Given the description of an element on the screen output the (x, y) to click on. 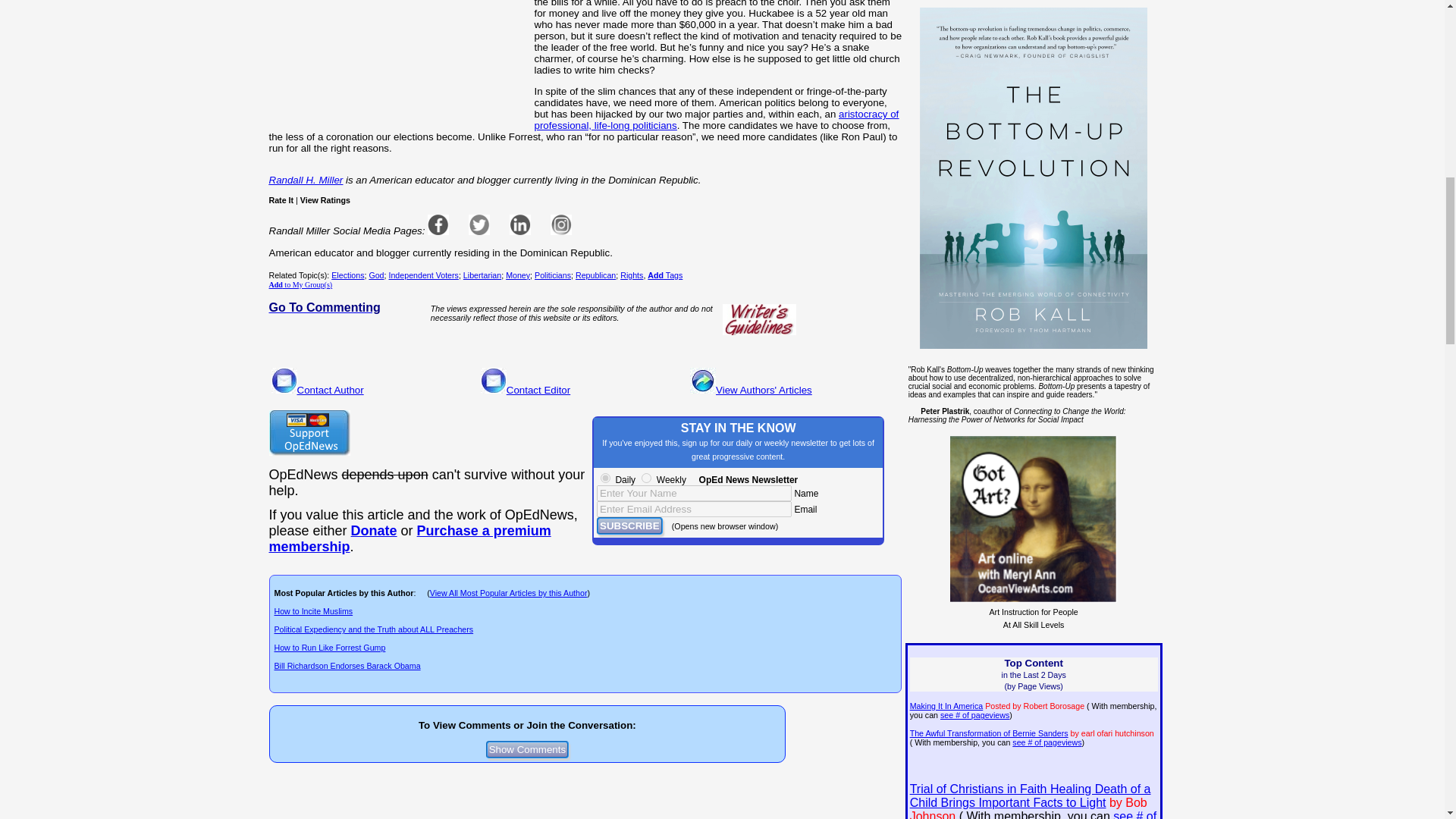
Republican (595, 275)
Money (517, 275)
Support OpEdNews (308, 432)
aristocracy of professional, life-long politicians (716, 119)
Show Comments (527, 749)
Rate It (280, 199)
Weekly (646, 478)
-- (373, 530)
Writers Guidelines (759, 319)
Independent Voters (423, 275)
Enter Email Address (694, 508)
God (376, 275)
Randall H. Miller (304, 179)
Advertisement (397, 63)
Facebook page url on login Profile not filled in (438, 224)
